Given the description of an element on the screen output the (x, y) to click on. 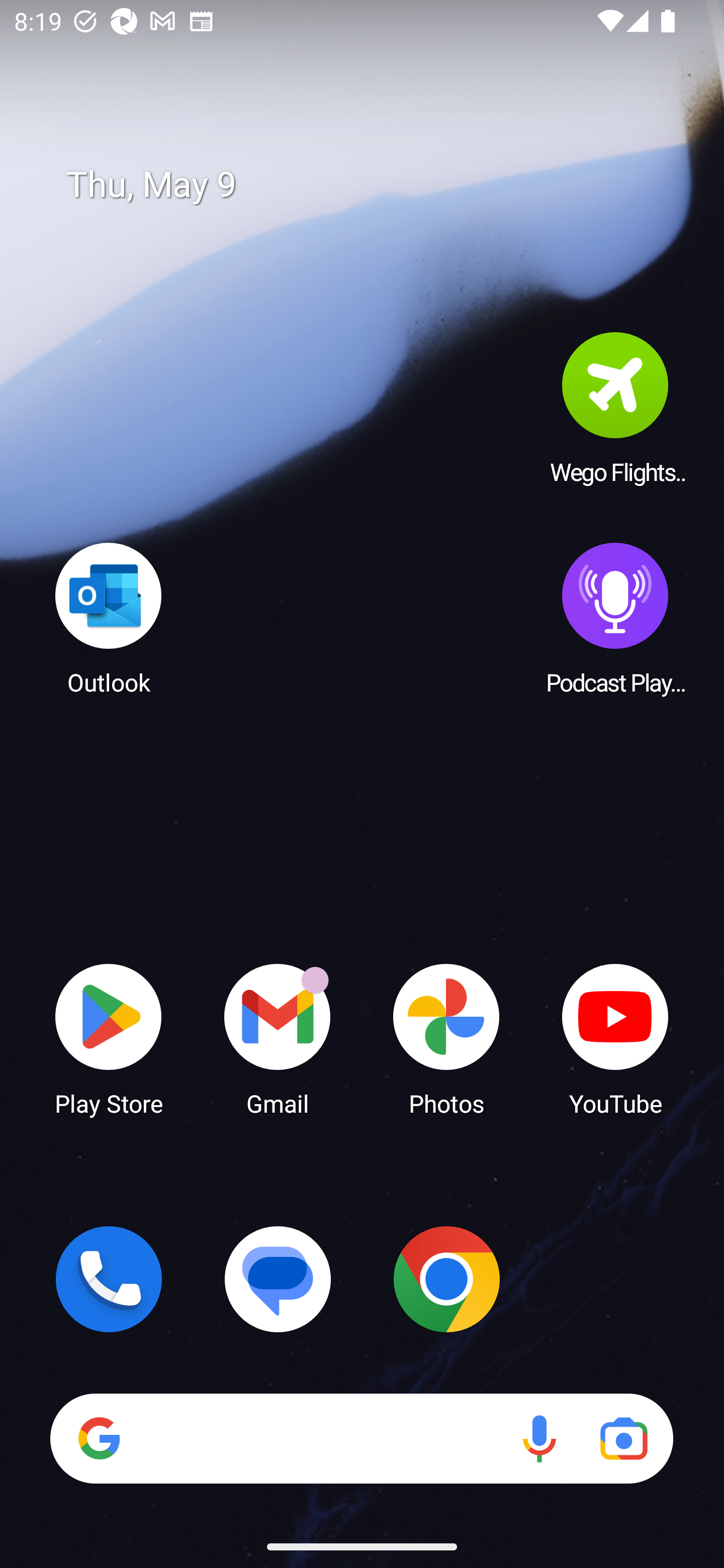
Thu, May 9 (375, 184)
Wego Flights & Hotels (615, 407)
Outlook (108, 617)
Podcast Player (615, 617)
Play Store (108, 1038)
Gmail Gmail has 18 notifications (277, 1038)
Photos (445, 1038)
YouTube (615, 1038)
Phone (108, 1279)
Messages (277, 1279)
Chrome (446, 1279)
Search Voice search Google Lens (361, 1438)
Voice search (539, 1438)
Google Lens (623, 1438)
